Given the description of an element on the screen output the (x, y) to click on. 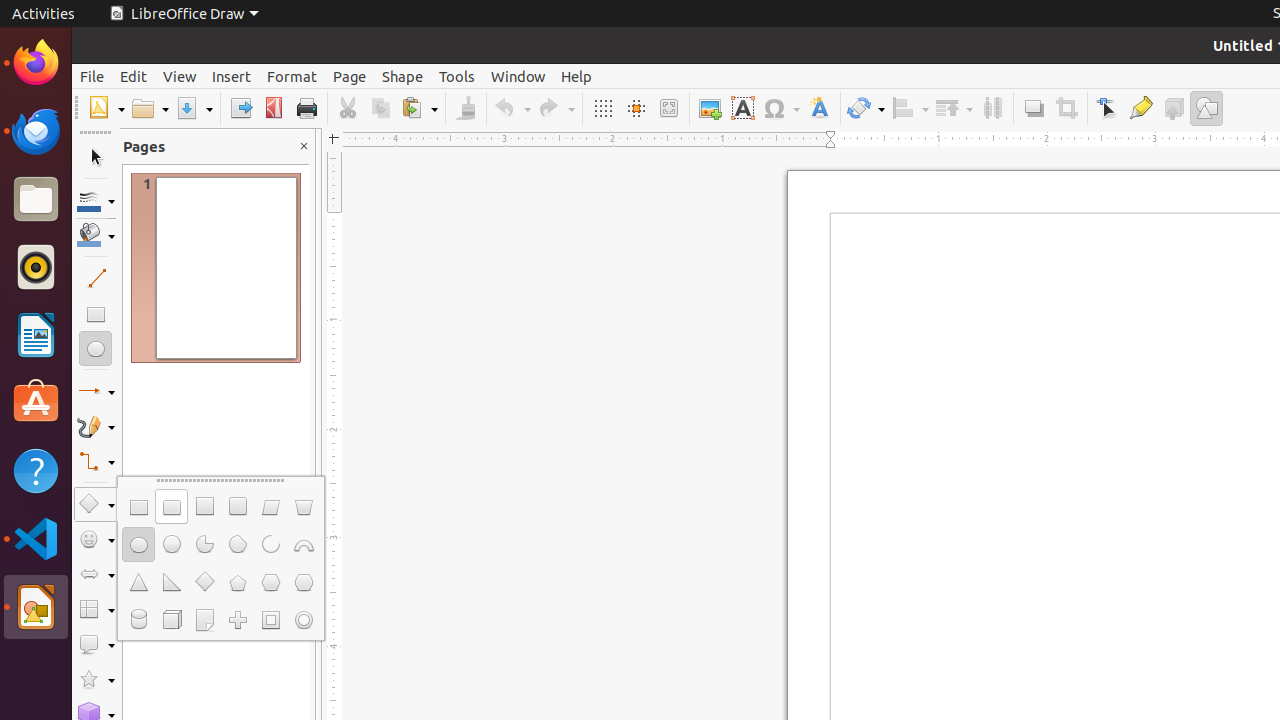
Save Element type: push-button (194, 108)
Select Element type: push-button (95, 157)
Draw Functions Element type: toggle-button (1206, 108)
Symbol Element type: push-button (781, 108)
Edit Element type: menu (133, 76)
